Given the description of an element on the screen output the (x, y) to click on. 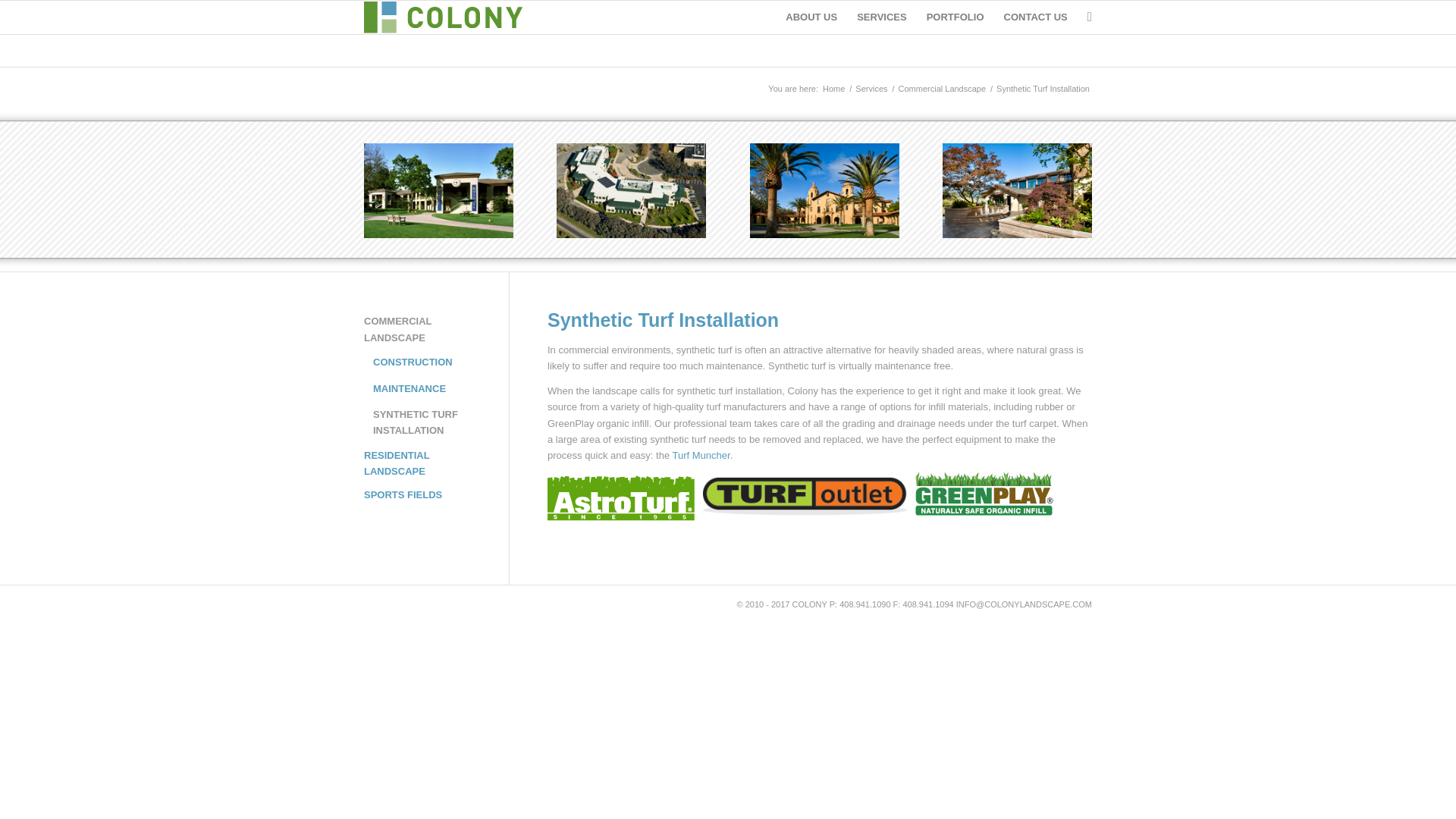
PORTFOLIO (955, 17)
CONTACT US (1035, 17)
SYNTHETIC TURF INSTALLATION (412, 423)
Services (871, 89)
CONSTRUCTION (412, 362)
Services (871, 89)
Colony Landscape (834, 89)
MAINTENANCE (412, 388)
Turf Muncher (701, 455)
Commercial Landscape (942, 89)
